Given the description of an element on the screen output the (x, y) to click on. 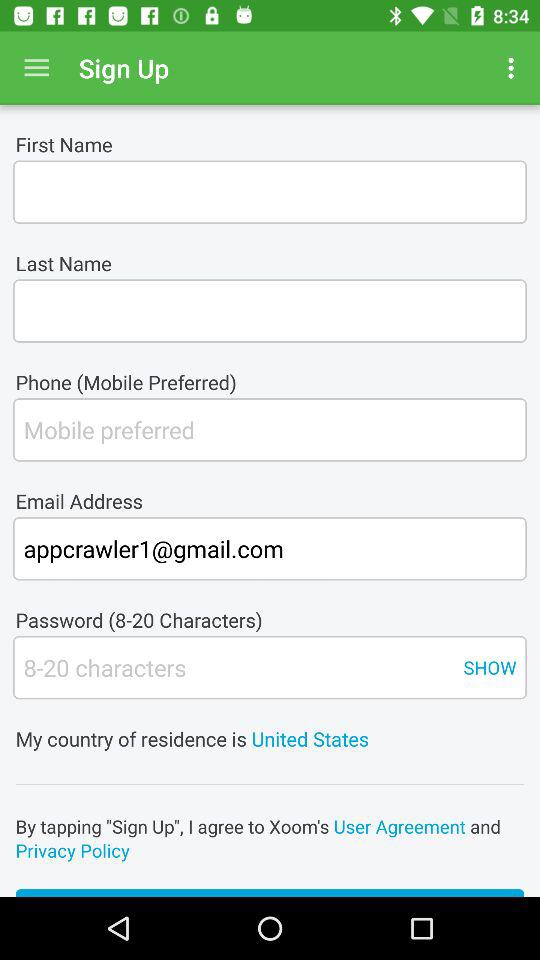
turn off app next to the sign up item (36, 68)
